Given the description of an element on the screen output the (x, y) to click on. 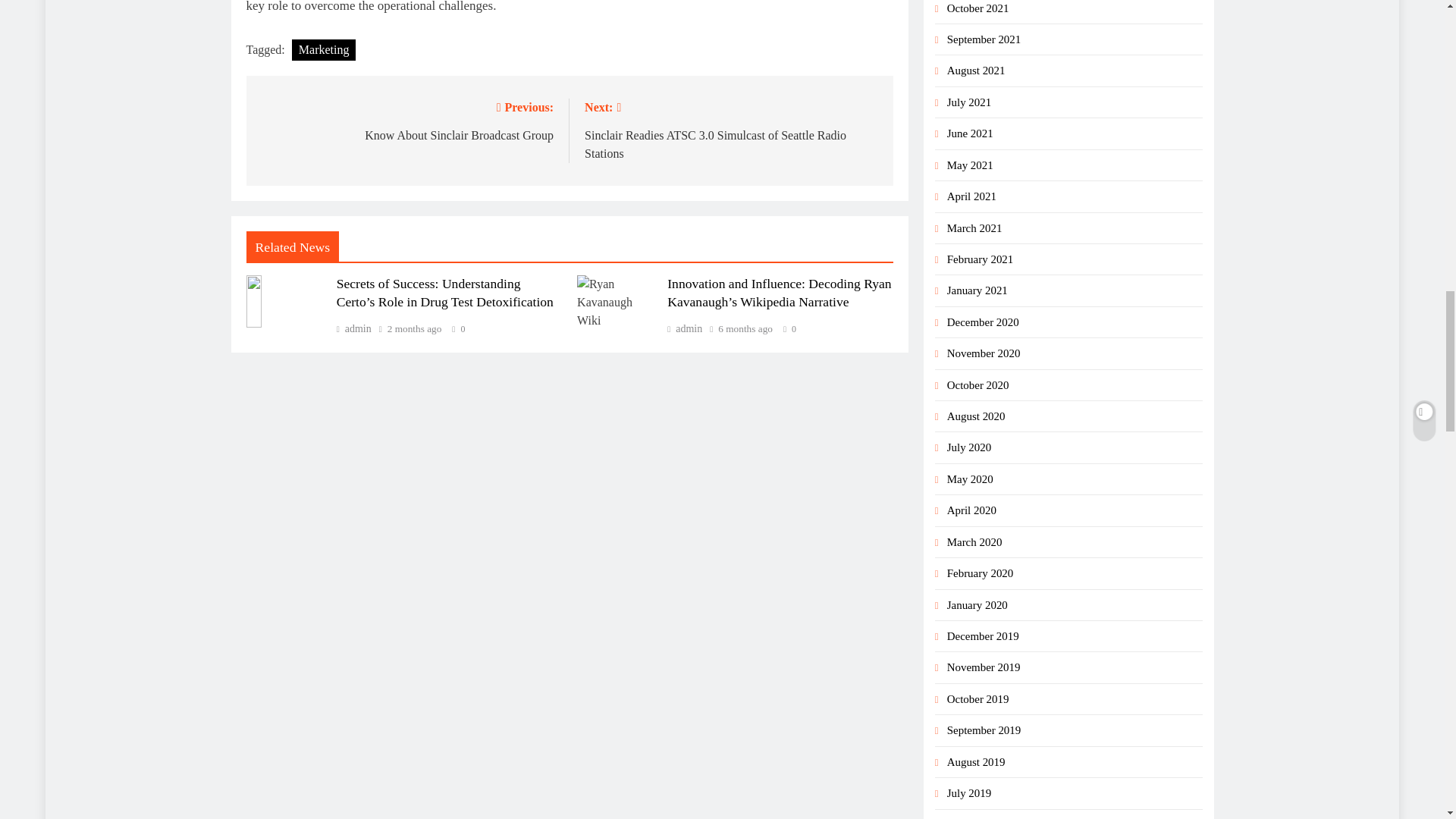
admin (683, 328)
6 months ago (745, 328)
Marketing (324, 49)
admin (406, 119)
2 months ago (353, 328)
